Given the description of an element on the screen output the (x, y) to click on. 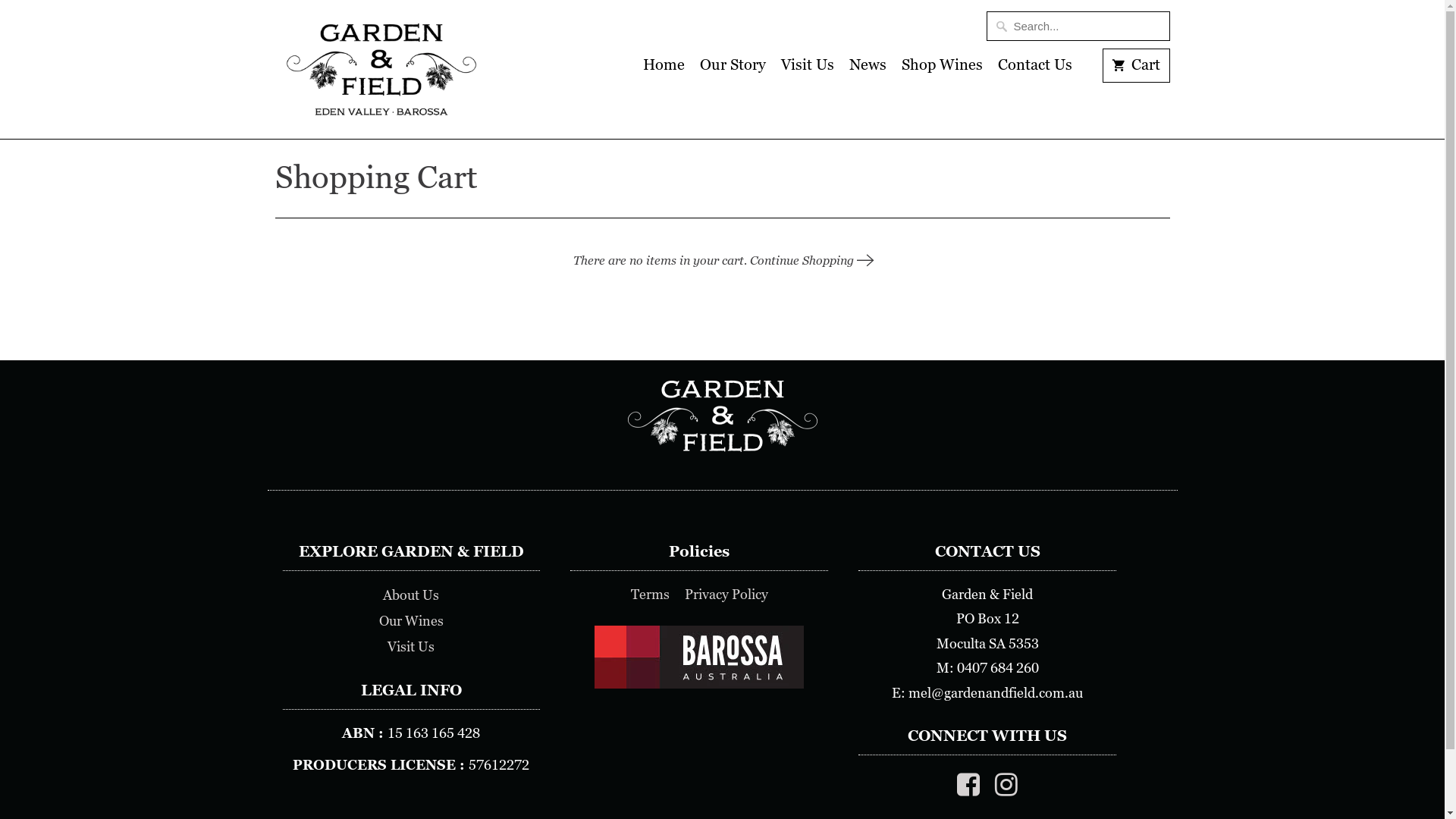
Garden and Field Element type: hover (380, 69)
Privacy Policy Element type: text (726, 594)
Contact Us Element type: text (1034, 68)
Cart Element type: text (1135, 65)
About Us Element type: text (410, 594)
Visit Us Element type: text (807, 68)
News Element type: text (867, 68)
Home Element type: text (663, 68)
Continue Shopping Element type: text (810, 260)
Our Story Element type: text (732, 68)
Terms Element type: text (649, 594)
Shop Wines Element type: text (941, 68)
Our Wines Element type: text (411, 620)
Visit Us Element type: text (410, 646)
